Given the description of an element on the screen output the (x, y) to click on. 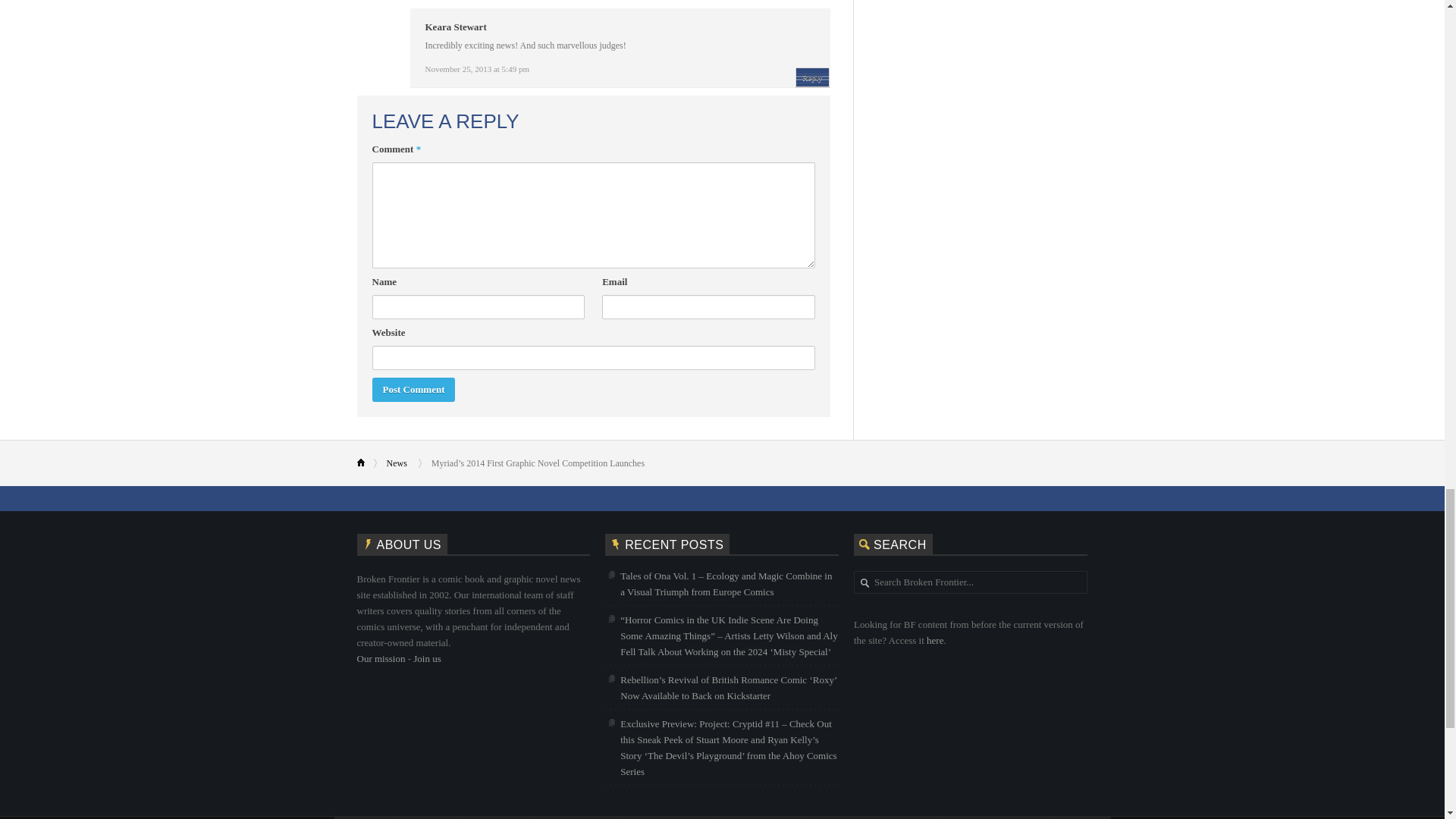
Search Broken Frontier... (978, 581)
Post Comment (412, 389)
Reply (811, 76)
Keara Stewart (455, 26)
Post Comment (412, 389)
November 25, 2013 at 5:49 pm (476, 68)
